Given the description of an element on the screen output the (x, y) to click on. 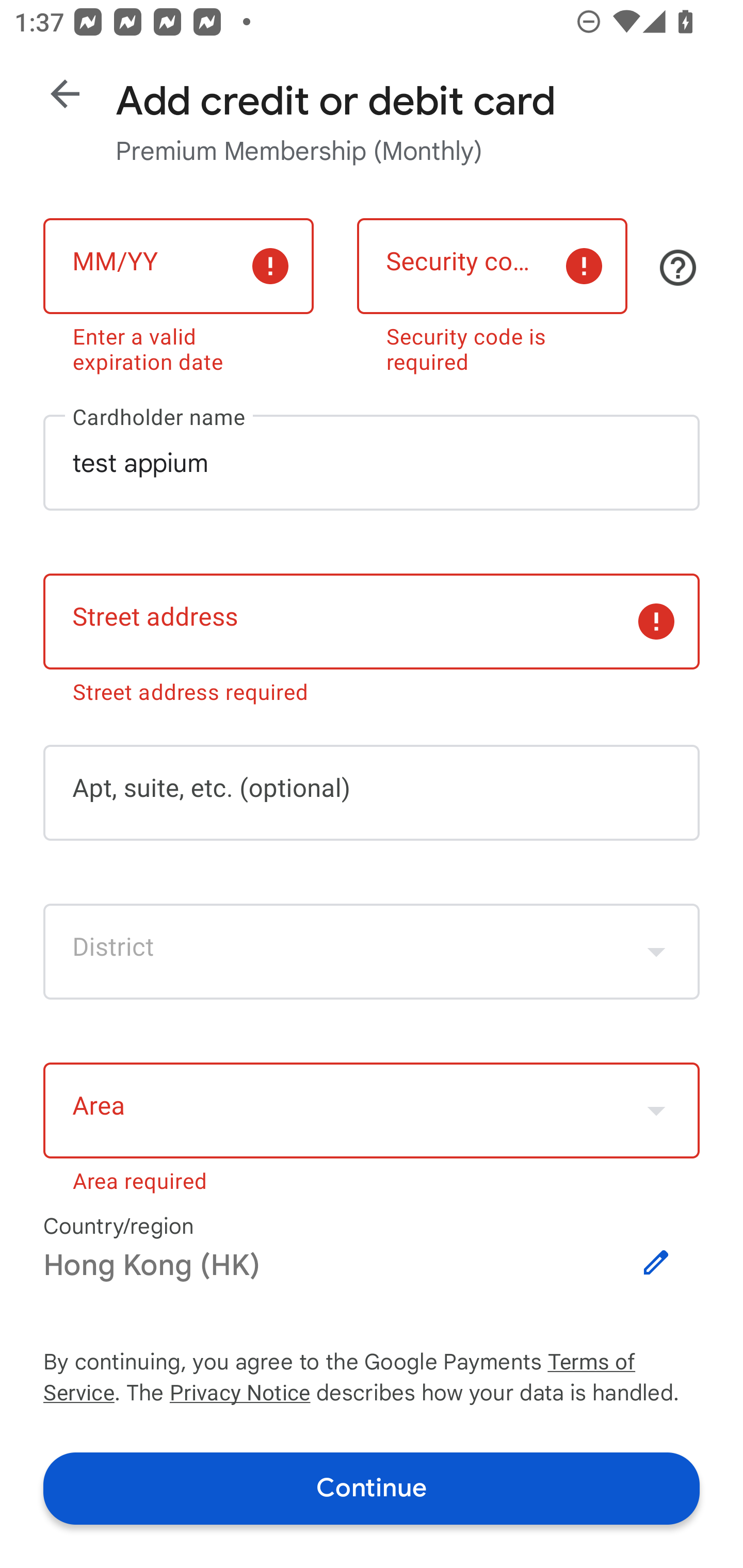
Back (64, 93)
Security code Error Security code is required (492, 292)
Expiration date, 2 digit month, 2 digit year (178, 265)
Security code (492, 265)
Security code help (677, 268)
test appium (371, 462)
Street address (371, 621)
Apt, suite, etc. (optional) (371, 792)
District (371, 951)
Show dropdown menu (655, 951)
Area (371, 1110)
Show dropdown menu (655, 1110)
country edit button (655, 1262)
Terms of Service (623, 1362)
Privacy Notice (239, 1394)
Continue (371, 1487)
